Given the description of an element on the screen output the (x, y) to click on. 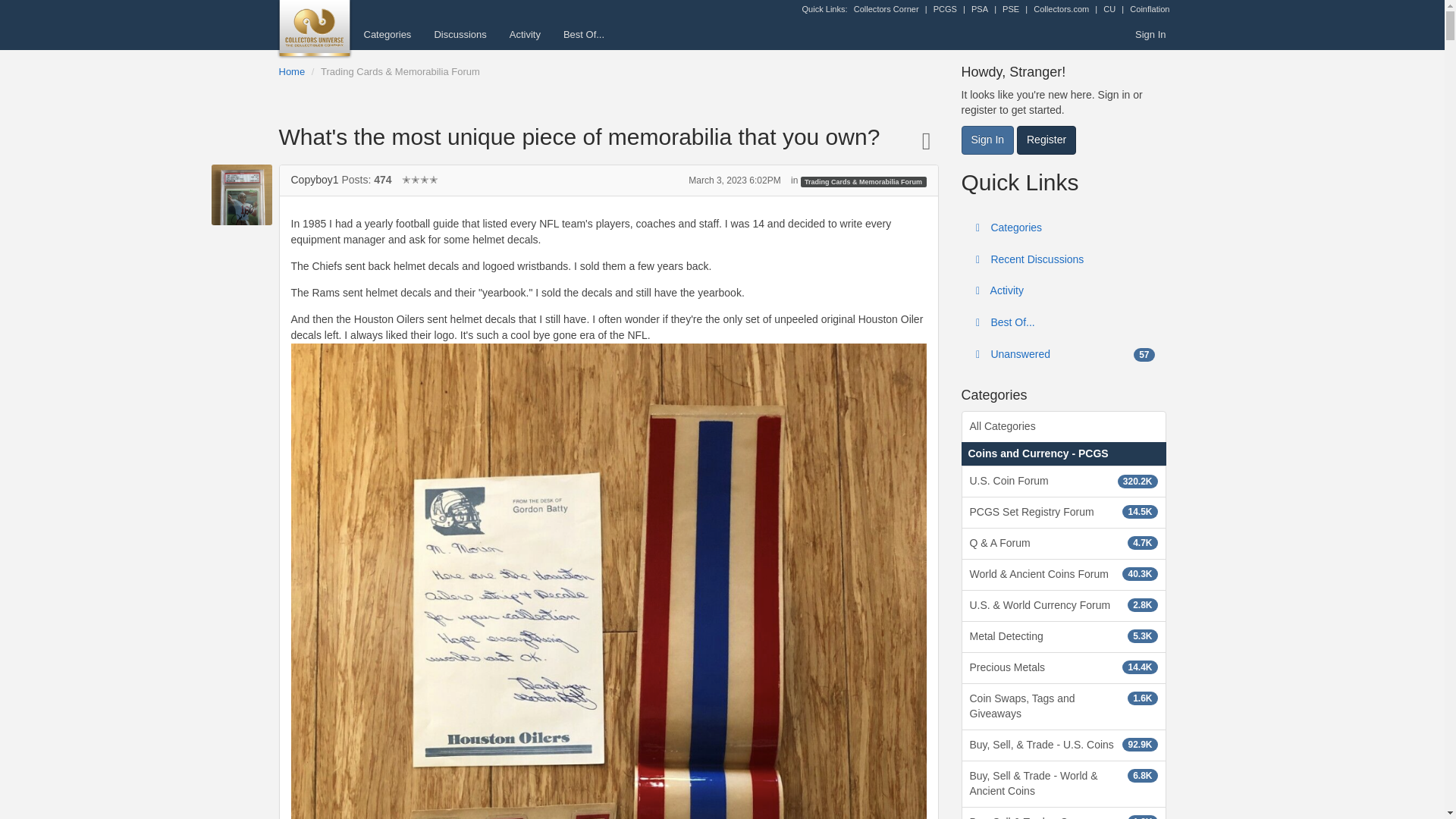
PSA - Professional SportsCard Authenticators (979, 8)
March 3, 2023 6:02PM (734, 180)
PCGS - Professional Coin Grading (944, 8)
Categories (387, 34)
Home (292, 71)
Coinflation - Measuring the Metal Value of Coins (1149, 8)
Collectors Corner (885, 8)
PSA (979, 8)
Collectors Corner (885, 8)
PCGS (944, 8)
Sign In (1150, 34)
Coinflation (1149, 8)
Best Of... (583, 34)
CU (1109, 8)
Copyboy1 (315, 179)
